Given the description of an element on the screen output the (x, y) to click on. 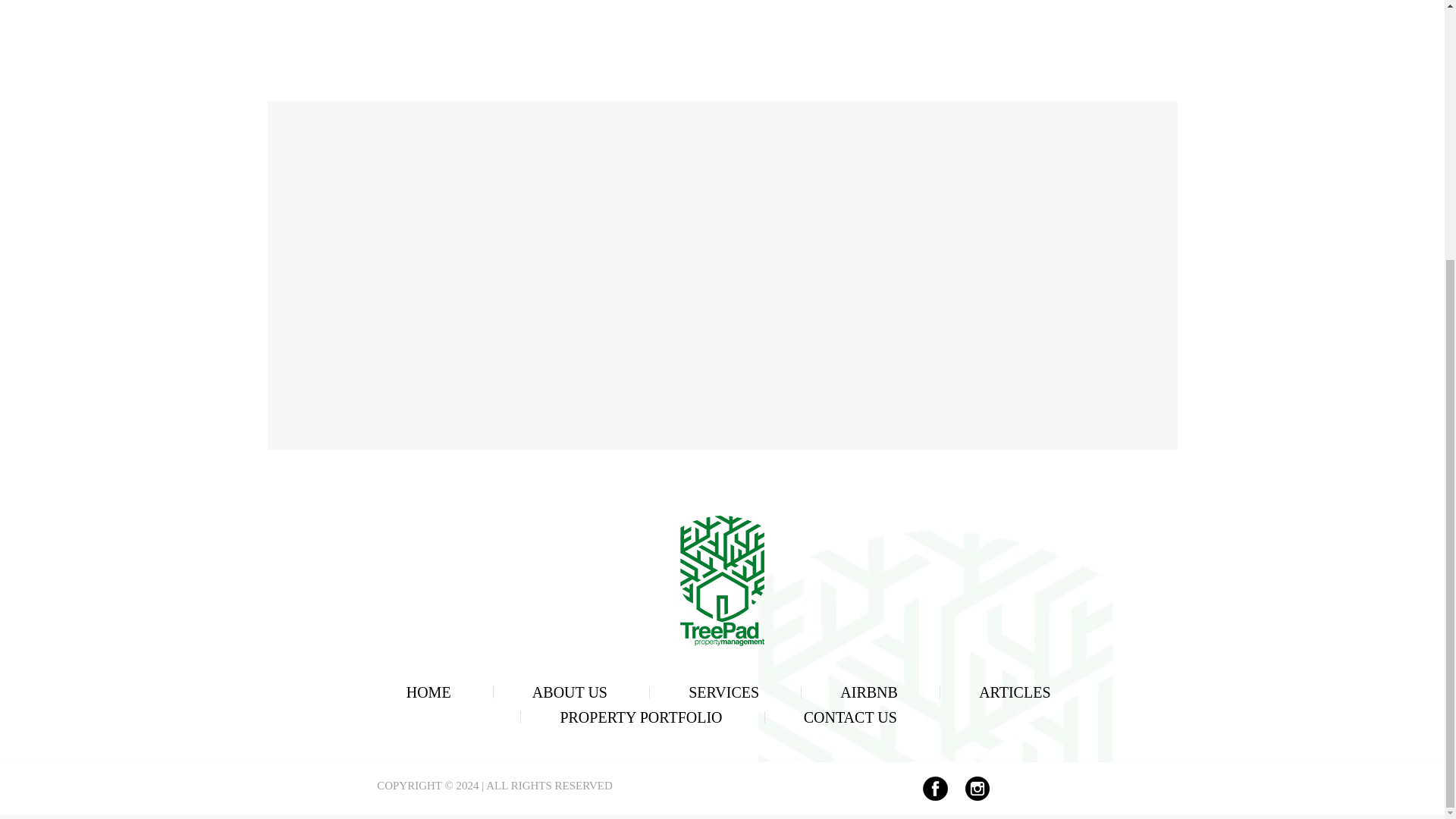
SERVICES (723, 692)
PROPERTY PORTFOLIO (640, 717)
ARTICLES (1013, 692)
AIRBNB (869, 692)
CONTACT US (849, 717)
HOME (428, 692)
ABOUT US (569, 692)
